Given the description of an element on the screen output the (x, y) to click on. 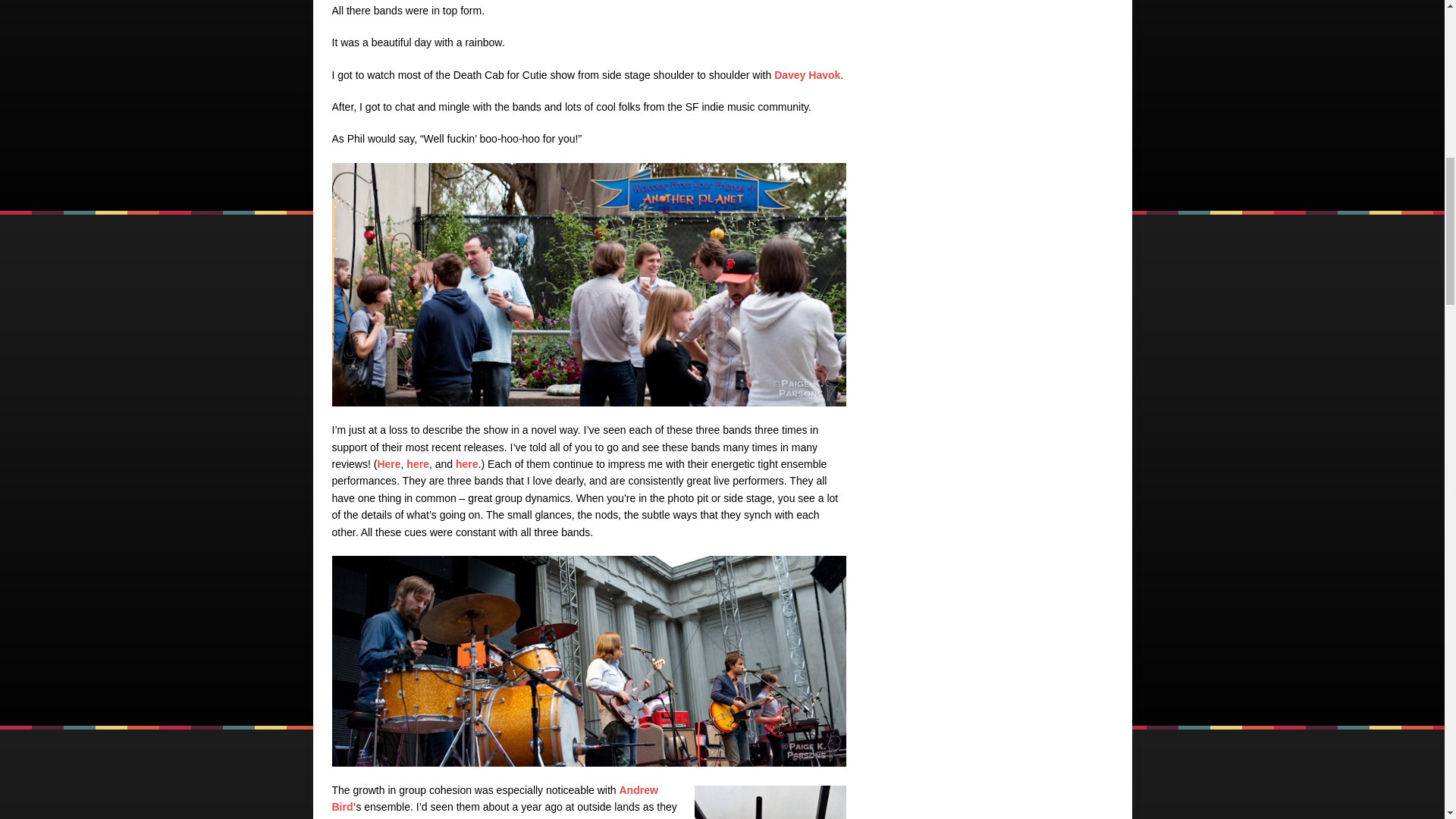
here (467, 463)
backstage-9969 (588, 284)
Here (388, 463)
here (417, 463)
vaccuum-9970 (769, 802)
Davey Havok (807, 74)
icm-andrew-bird-greek-07-11-09-0125 (588, 661)
